Given the description of an element on the screen output the (x, y) to click on. 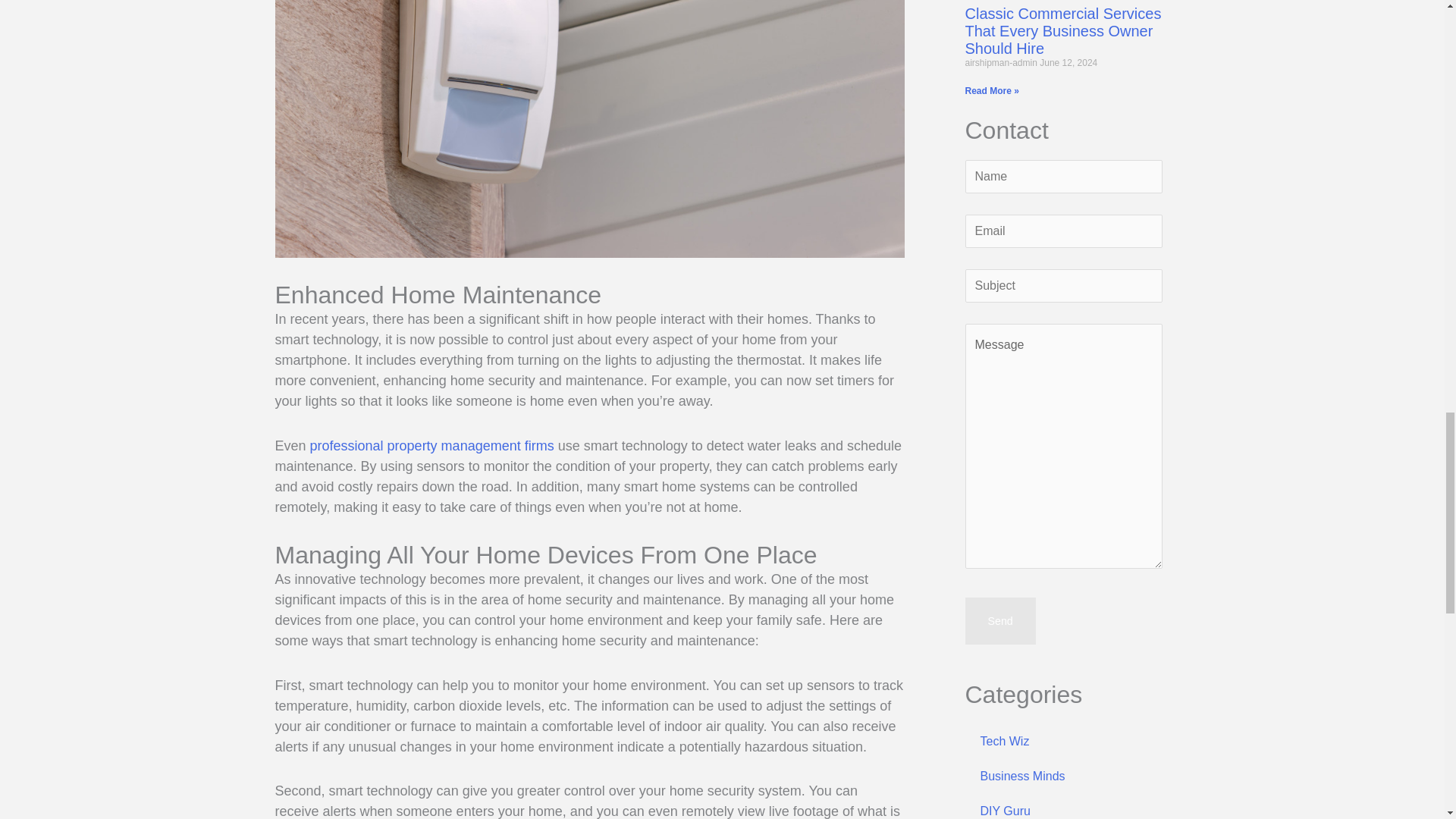
Send (999, 620)
professional property management firms (432, 445)
Send (999, 620)
Business Minds (1062, 776)
Tech Wiz (1062, 741)
DIY Guru (1062, 806)
